Given the description of an element on the screen output the (x, y) to click on. 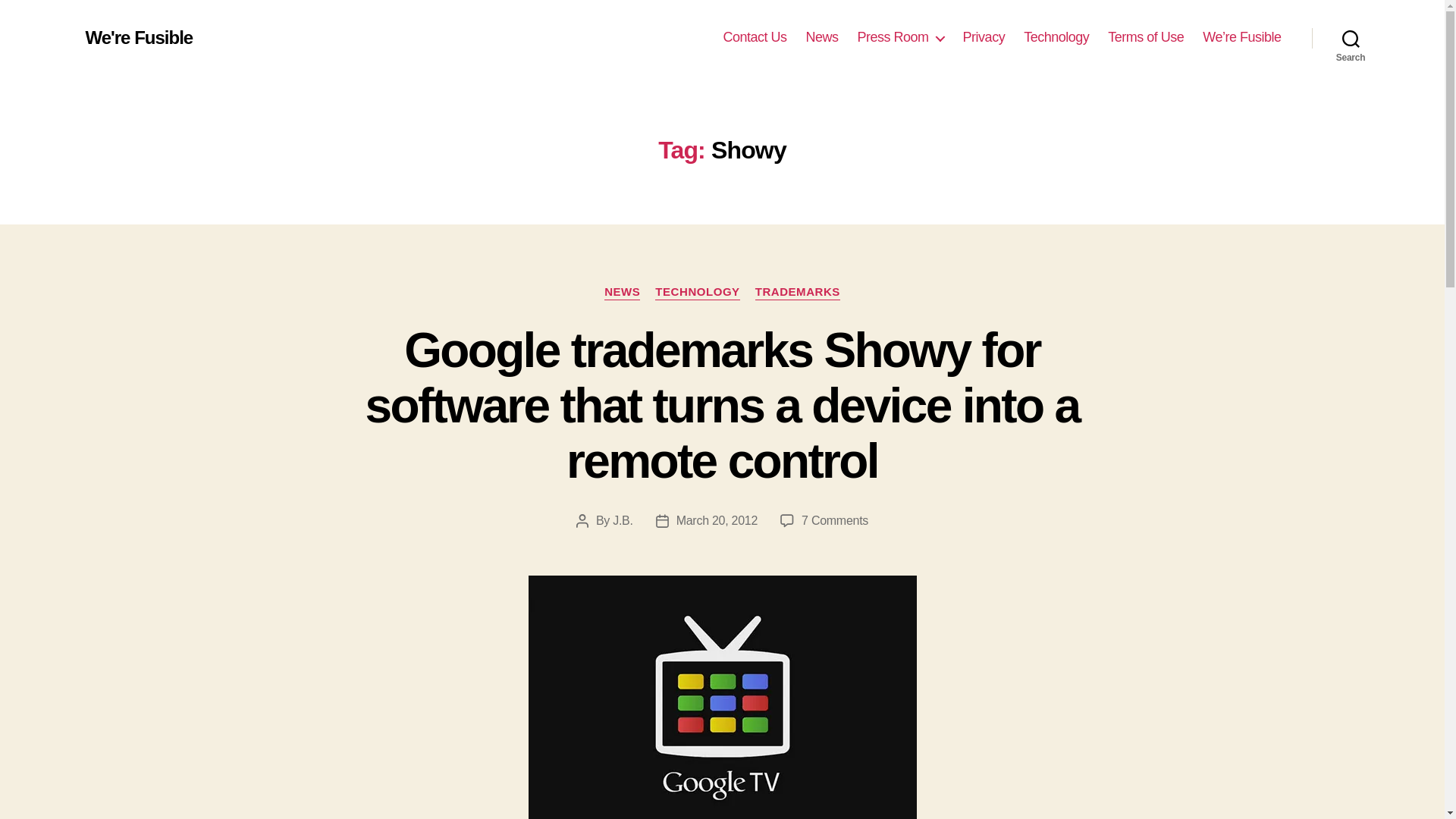
TRADEMARKS (797, 292)
Technology (1056, 37)
We're Fusible (138, 37)
Privacy (984, 37)
March 20, 2012 (717, 520)
News (822, 37)
Contact Us (754, 37)
Terms of Use (1145, 37)
NEWS (622, 292)
TECHNOLOGY (697, 292)
J.B. (621, 520)
Search (1350, 37)
Press Room (900, 37)
